Given the description of an element on the screen output the (x, y) to click on. 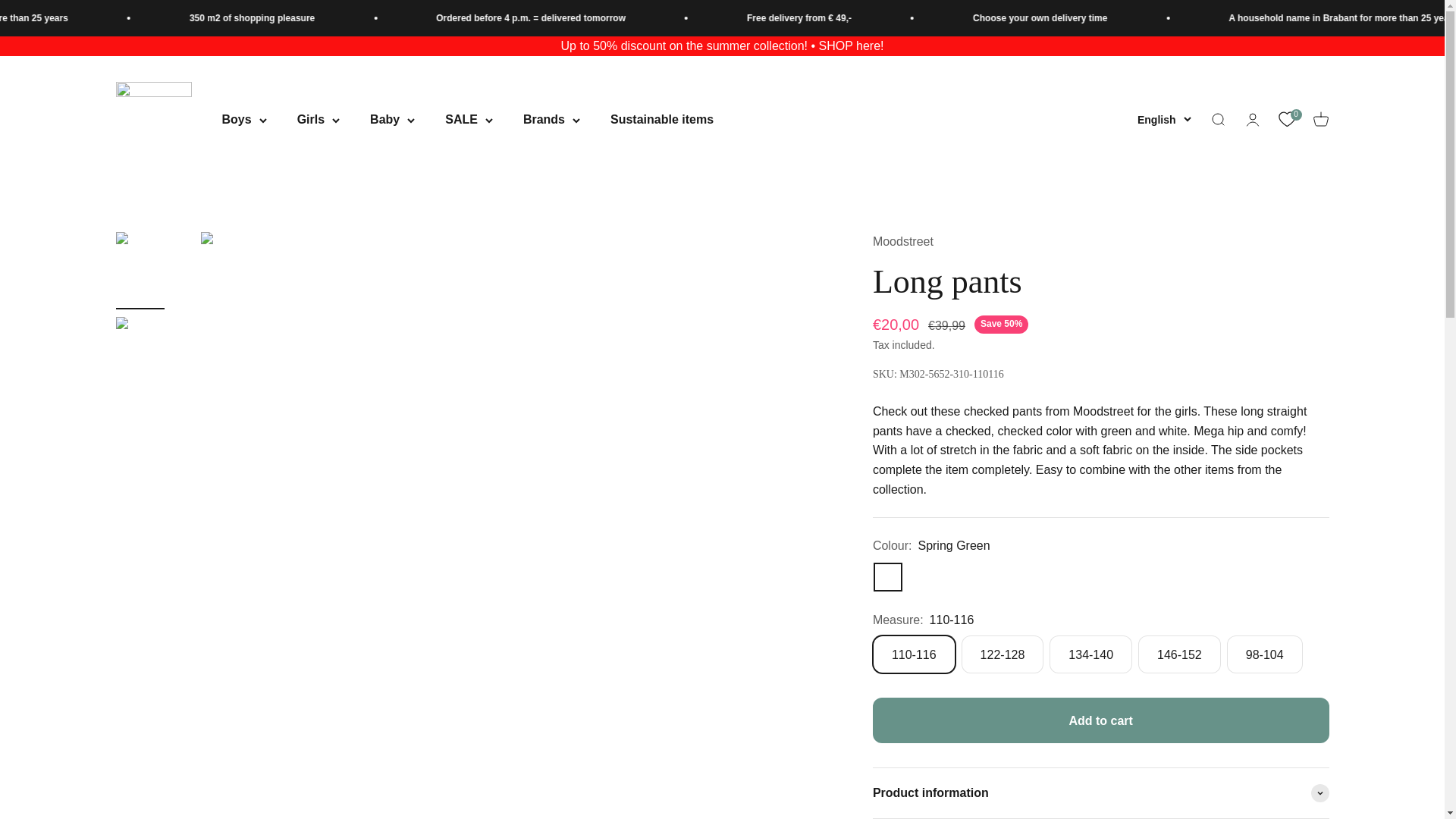
SHOP here! (850, 45)
